Given the description of an element on the screen output the (x, y) to click on. 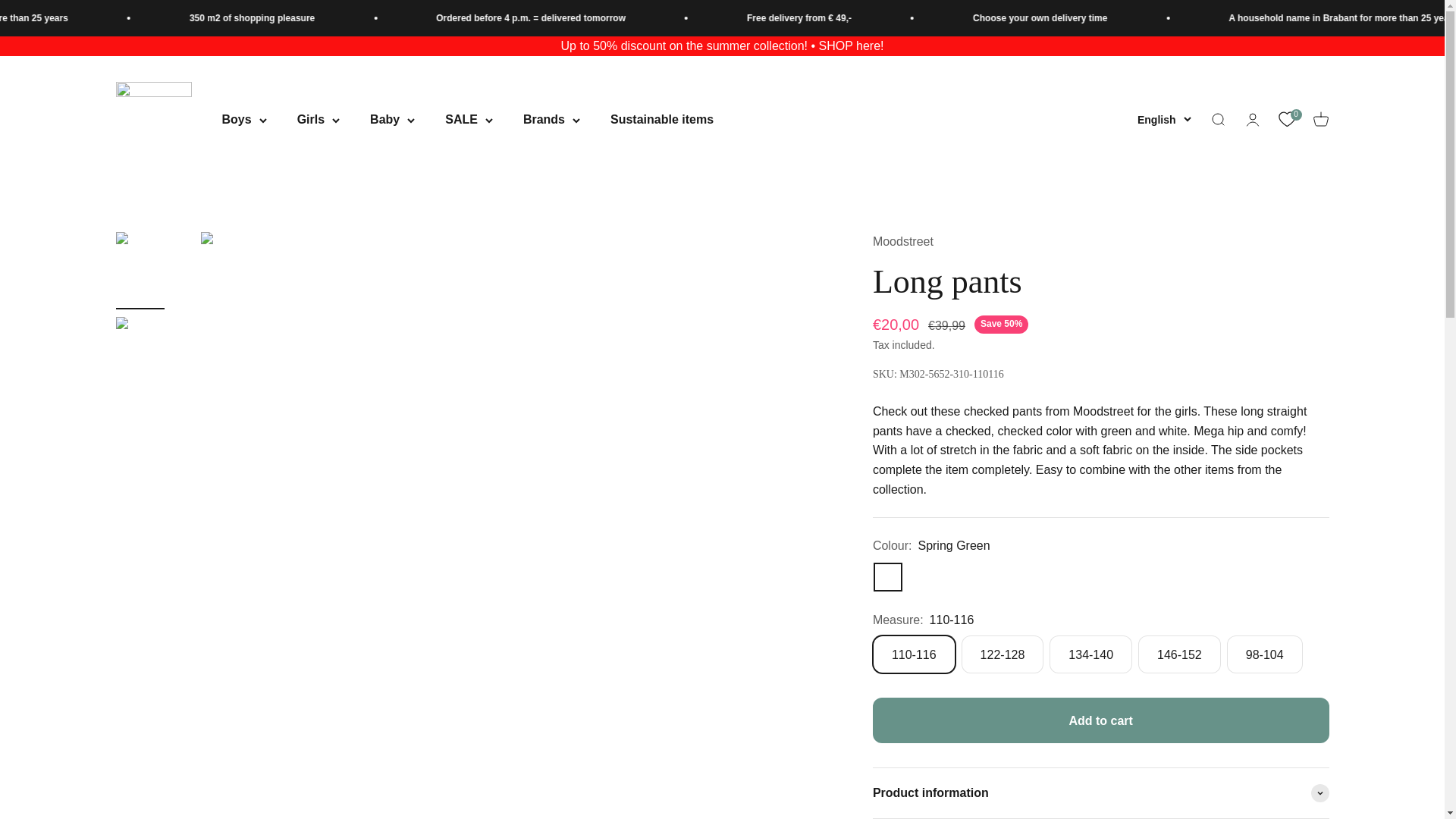
SHOP here! (850, 45)
